Given the description of an element on the screen output the (x, y) to click on. 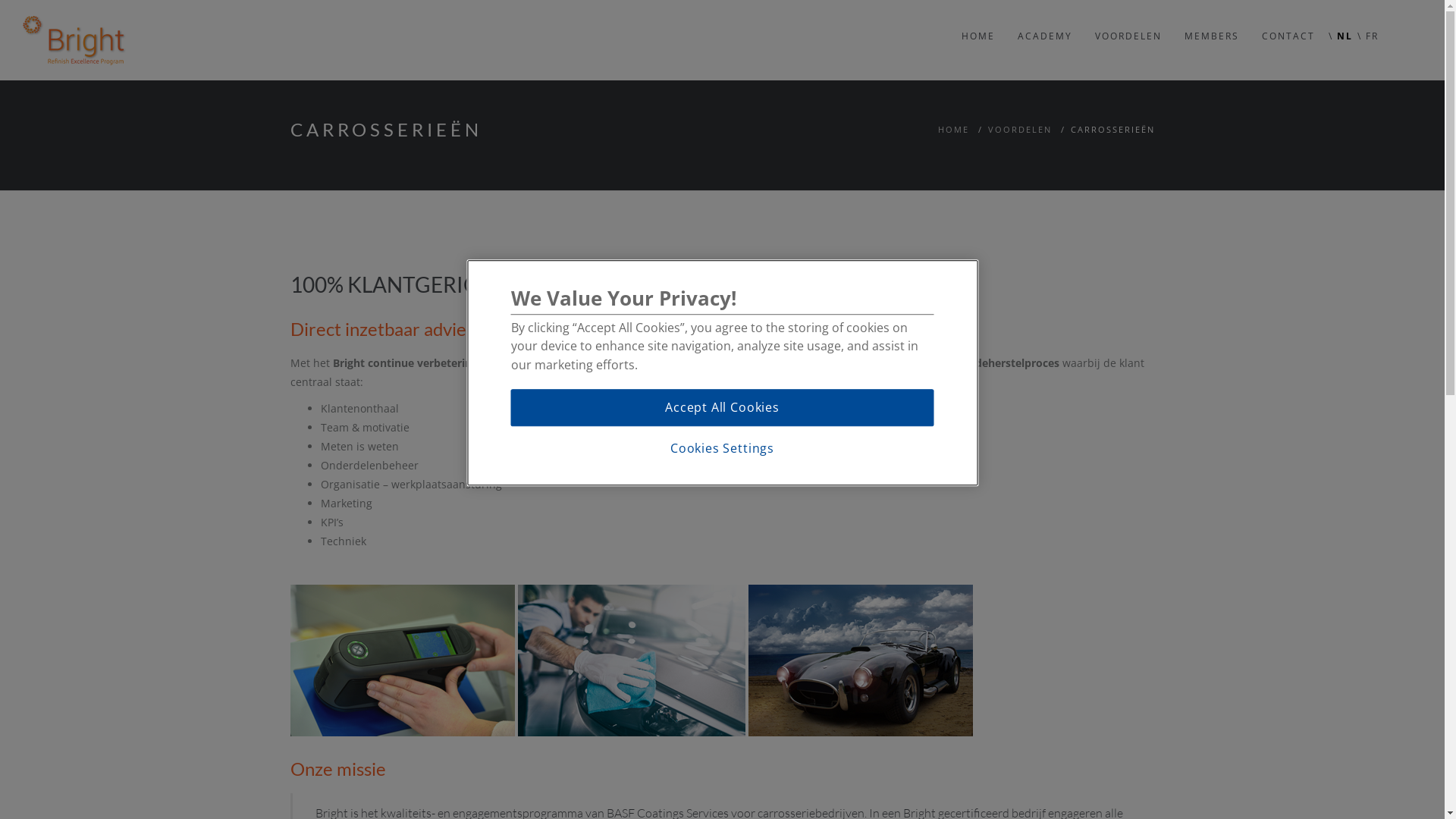
HOME Element type: text (978, 24)
VOORDELEN Element type: text (1128, 24)
CONTACT Element type: text (1288, 24)
ACADEMY Element type: text (1044, 24)
VOORDELEN Element type: text (1019, 128)
Accept All Cookies Element type: text (722, 407)
\ FR Element type: text (1367, 24)
MEMBERS Element type: text (1211, 24)
\ NL Element type: text (1340, 24)
HOME Element type: text (952, 128)
Cookies Settings Element type: text (721, 449)
